Given the description of an element on the screen output the (x, y) to click on. 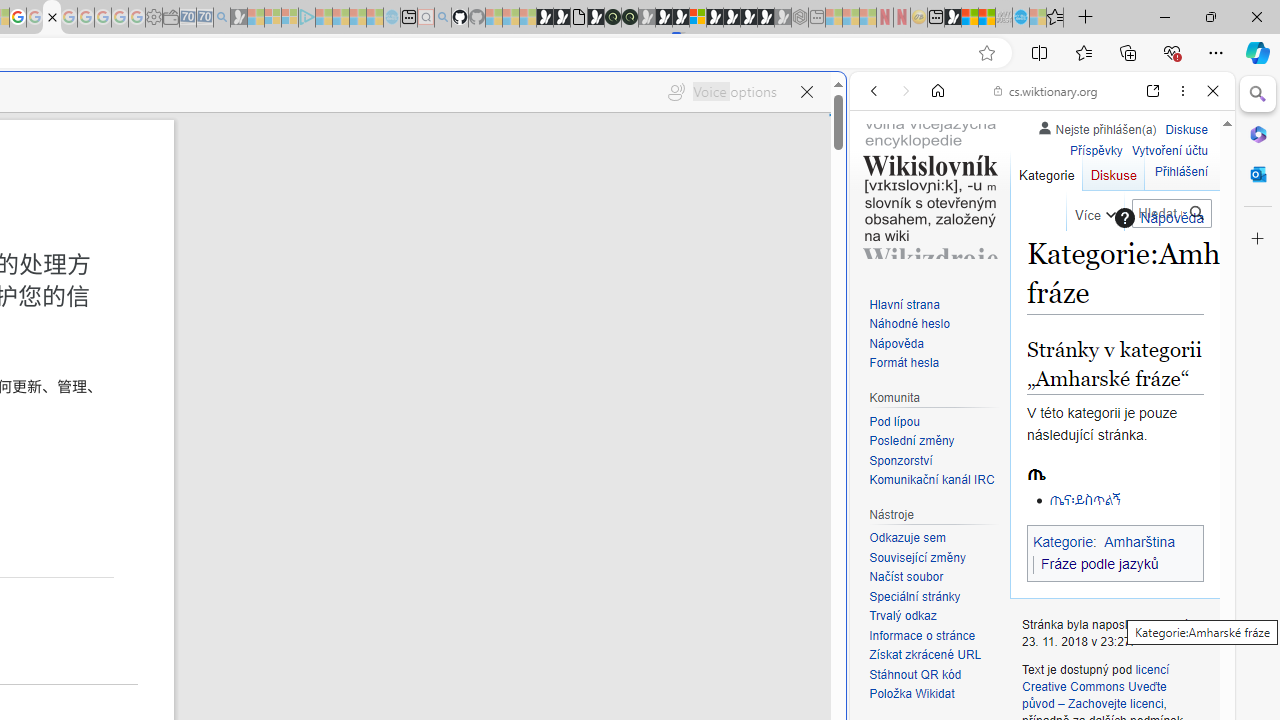
Home | Sky Blue Bikes - Sky Blue Bikes (687, 426)
Settings - Sleeping (153, 17)
Preferences (1189, 228)
World - MSN (969, 17)
Global web icon (888, 669)
